Given the description of an element on the screen output the (x, y) to click on. 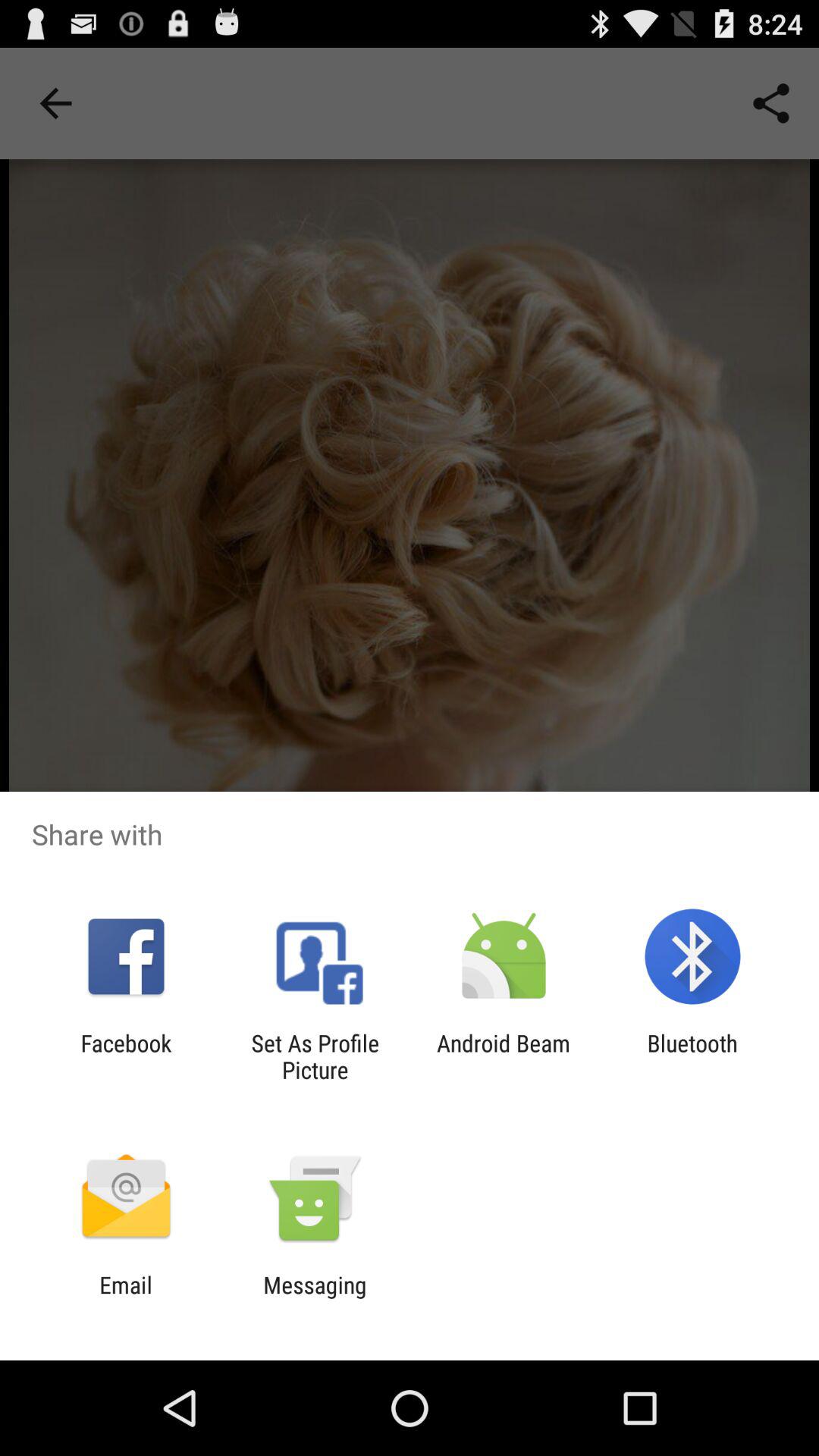
swipe until messaging (314, 1298)
